Given the description of an element on the screen output the (x, y) to click on. 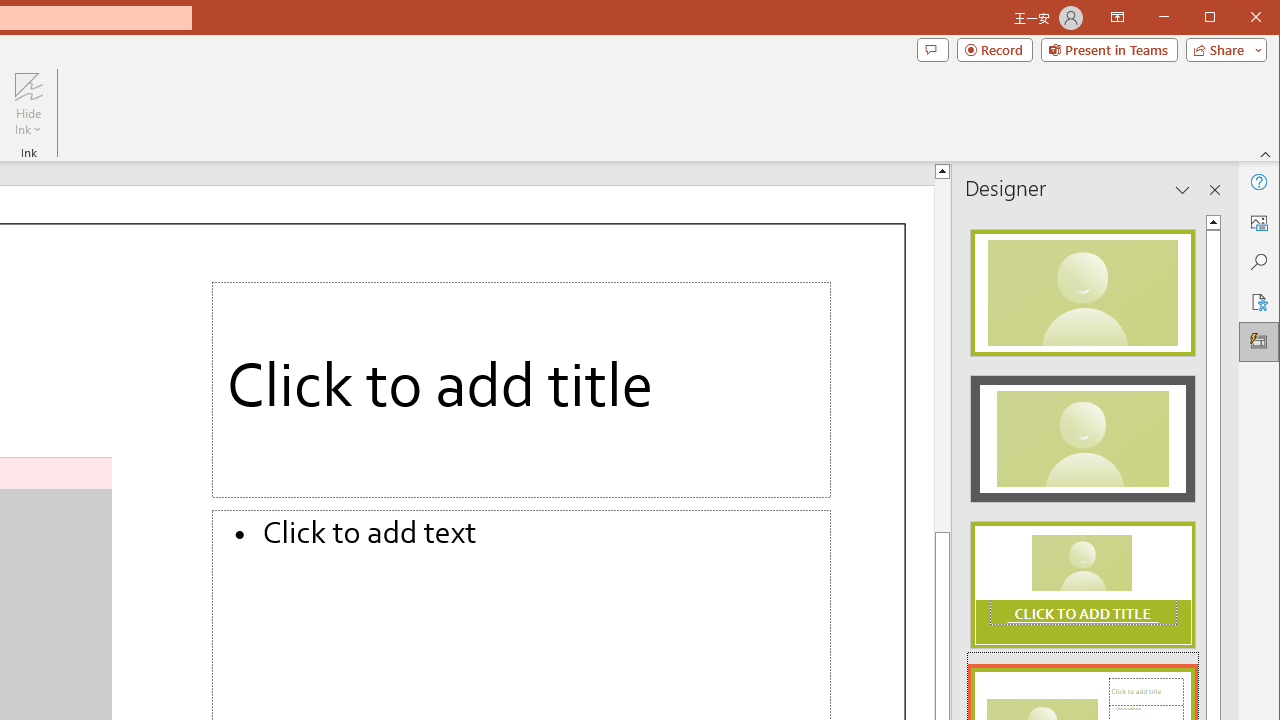
Recommended Design: Design Idea (1082, 286)
